Given the description of an element on the screen output the (x, y) to click on. 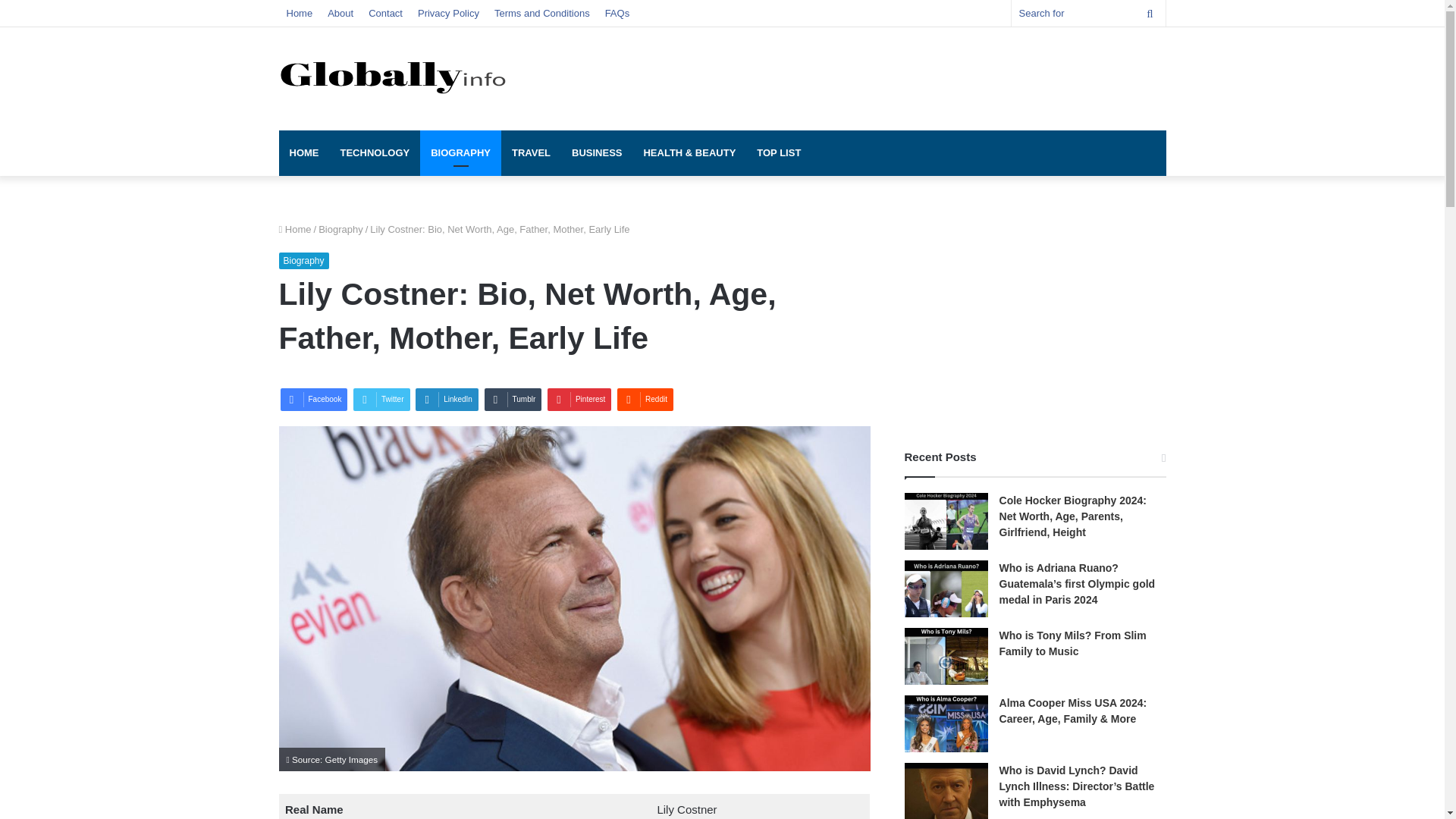
Twitter (381, 399)
LinkedIn (446, 399)
Biography (340, 229)
Home (299, 13)
BUSINESS (595, 153)
Pinterest (579, 399)
Globally Info (392, 76)
FAQs (616, 13)
Advertisement (873, 76)
TOP LIST (777, 153)
